Given the description of an element on the screen output the (x, y) to click on. 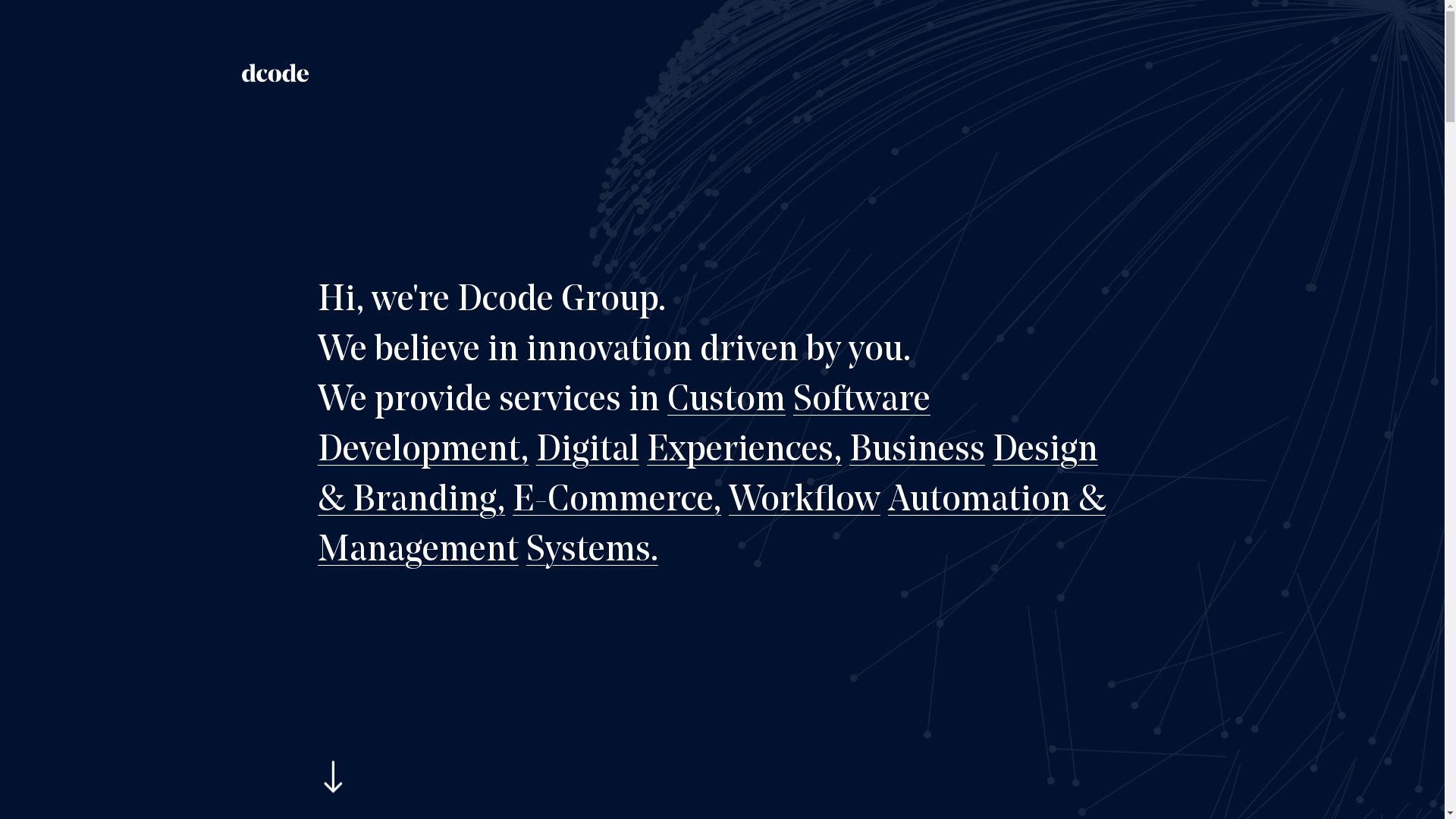
Business Design & Branding, Element type: text (707, 476)
Digital Experiences, Element type: text (688, 451)
E-Commerce, Element type: text (616, 501)
Workflow Automation & Management Systems. Element type: text (711, 526)
Custom Software Development, Element type: text (623, 425)
